Given the description of an element on the screen output the (x, y) to click on. 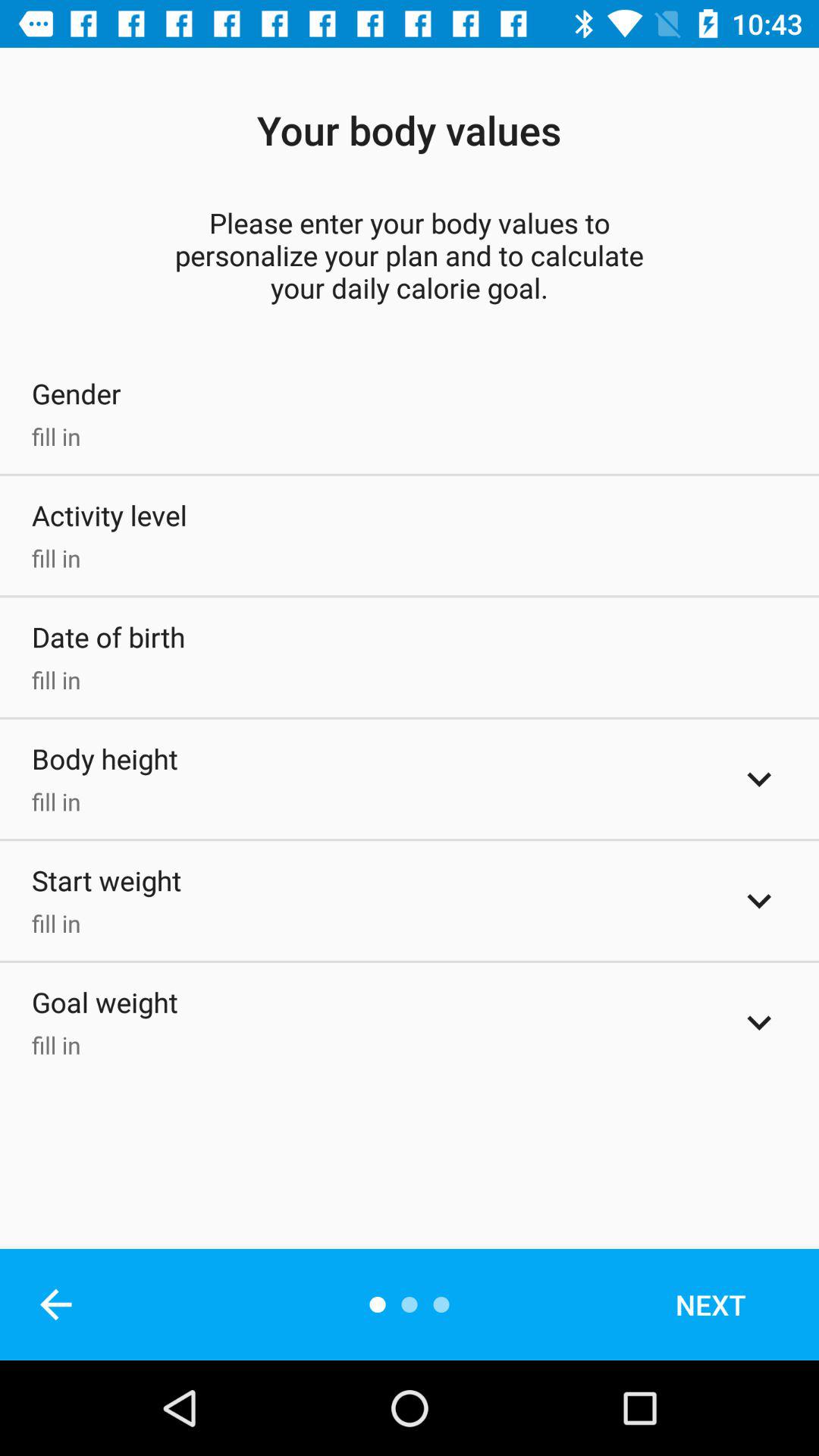
expand (759, 1022)
